Given the description of an element on the screen output the (x, y) to click on. 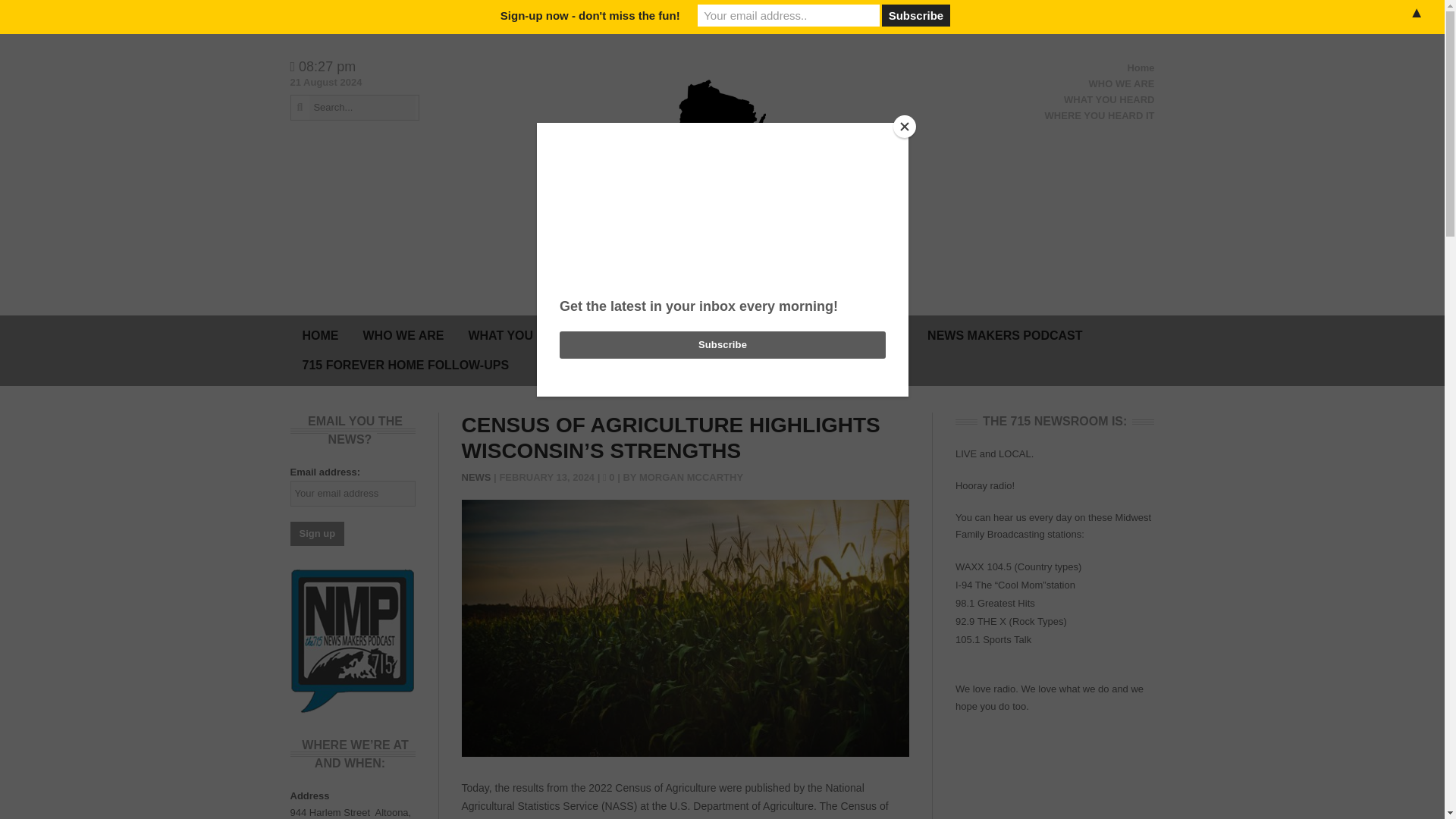
Subscribe (916, 15)
WHAT YOU HEARD (523, 335)
715 FOREVER HOME FOLLOW-UPS (405, 365)
MORGAN MCCARTHY (690, 477)
NEWS MAKERS PODCAST (1004, 335)
WHERE YOU HEARD IT (1099, 115)
0 (609, 477)
HOW TO GET IN TOUCH (833, 335)
WHO WE ARE (1121, 83)
WHERE YOU HEARD IT (671, 335)
